Given the description of an element on the screen output the (x, y) to click on. 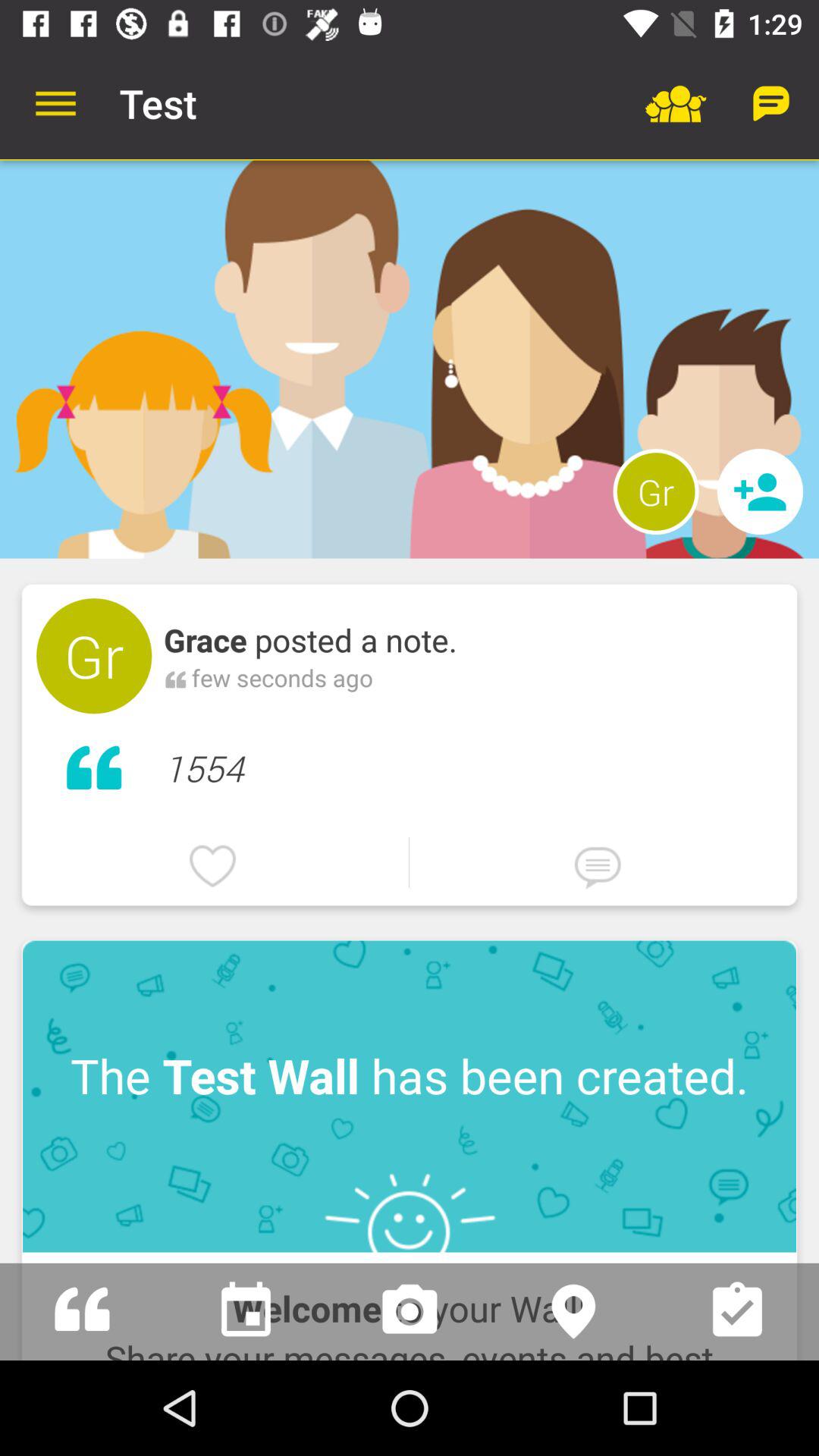
tap the grace posted a icon (310, 639)
